Given the description of an element on the screen output the (x, y) to click on. 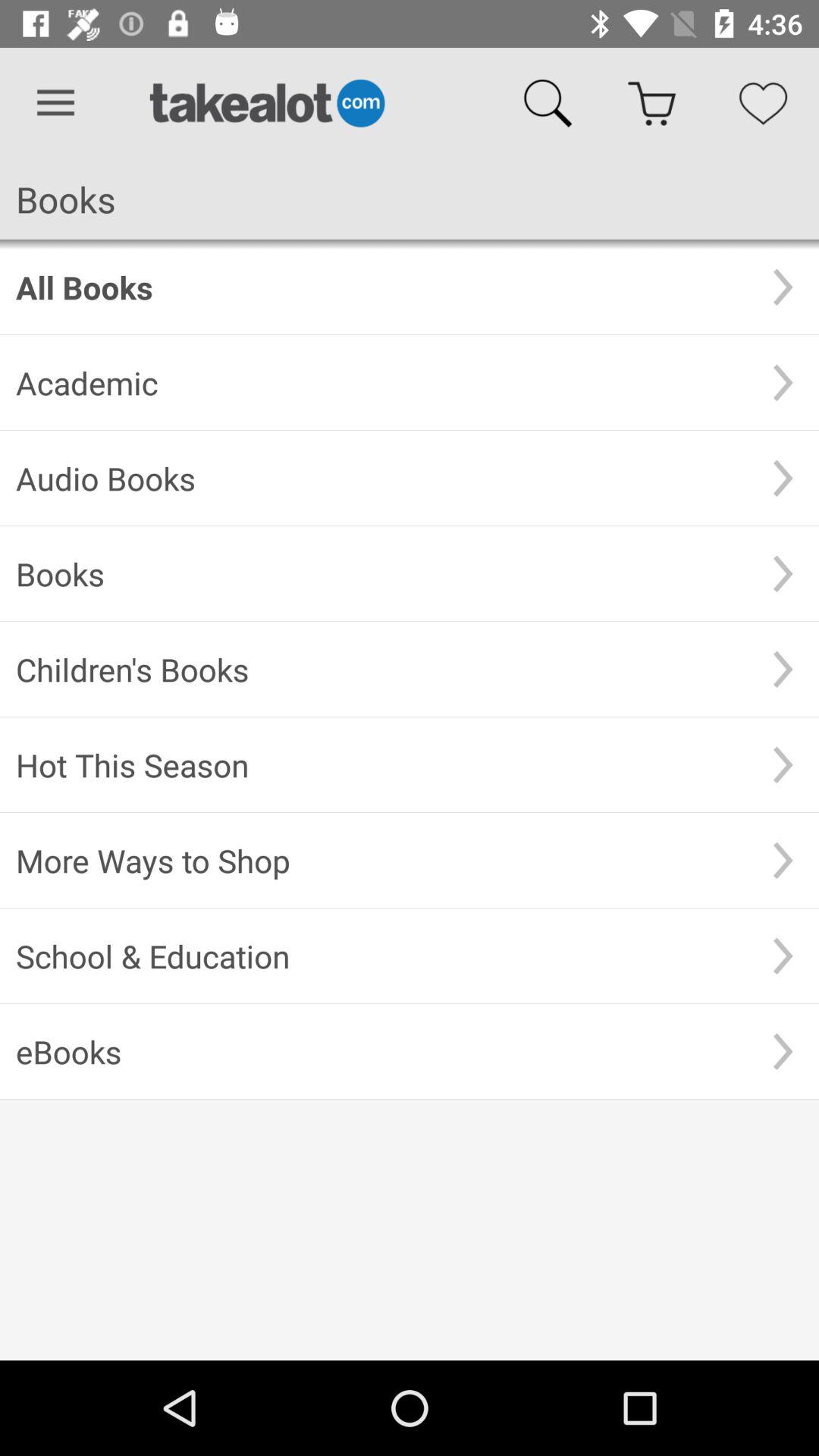
select the item below the all books (381, 382)
